Given the description of an element on the screen output the (x, y) to click on. 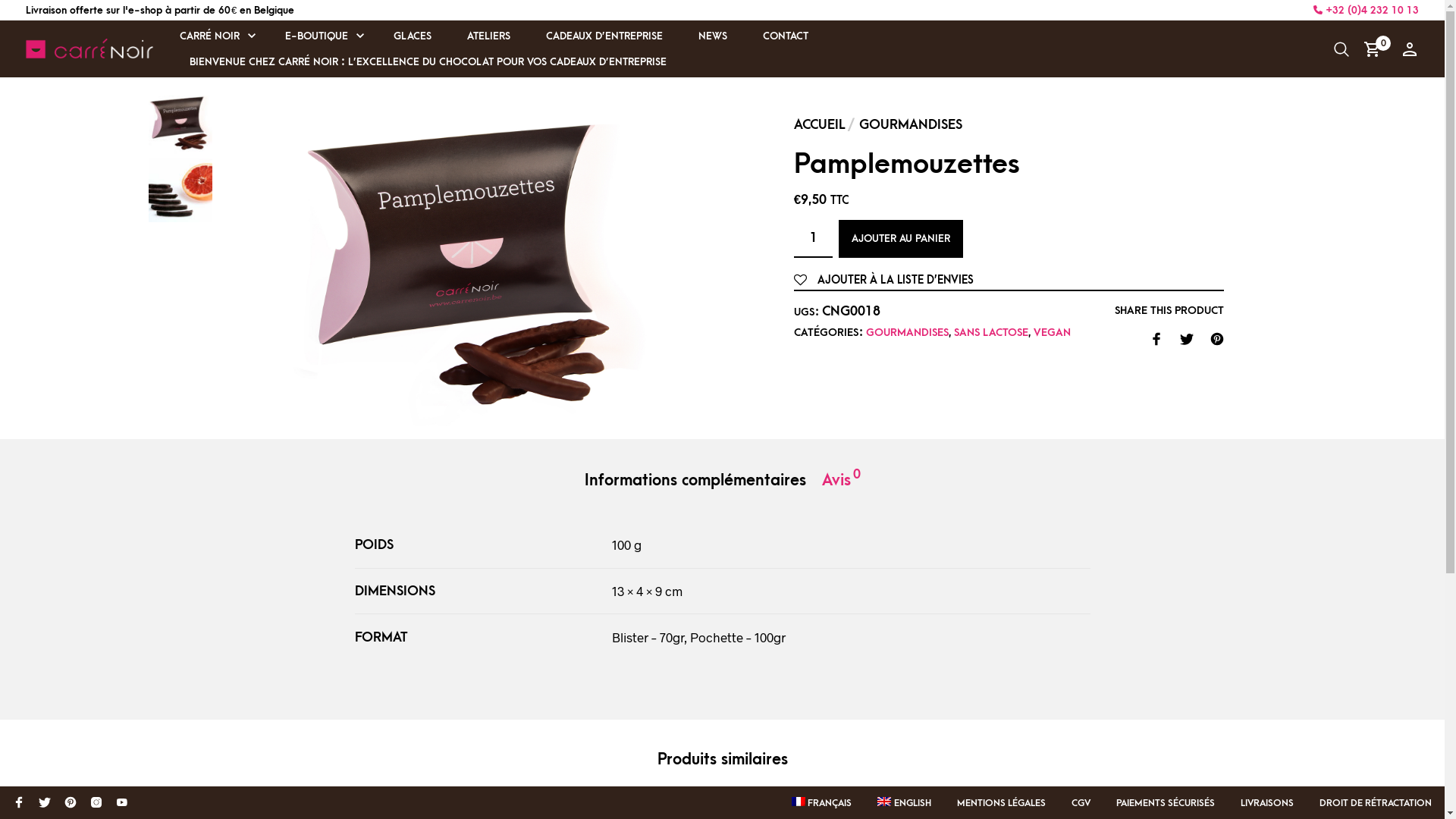
AJOUTER AU PANIER Element type: text (900, 238)
GOURMANDISES Element type: text (910, 124)
NEWS Element type: text (712, 37)
CGV Element type: text (1080, 803)
VEGAN Element type: text (1051, 332)
Avis0 Element type: text (841, 480)
ENGLISH Element type: text (904, 803)
CONTACT Element type: text (785, 37)
LIVRAISONS Element type: text (1267, 803)
ACCUEIL Element type: text (819, 124)
0 Element type: text (1375, 48)
+32 (0)4 232 10 13 Element type: text (1365, 9)
GOURMANDISES Element type: text (907, 332)
ATELIERS Element type: text (488, 37)
SANS LACTOSE Element type: text (990, 332)
E-BOUTIQUE Element type: text (316, 37)
GLACES Element type: text (412, 37)
